Given the description of an element on the screen output the (x, y) to click on. 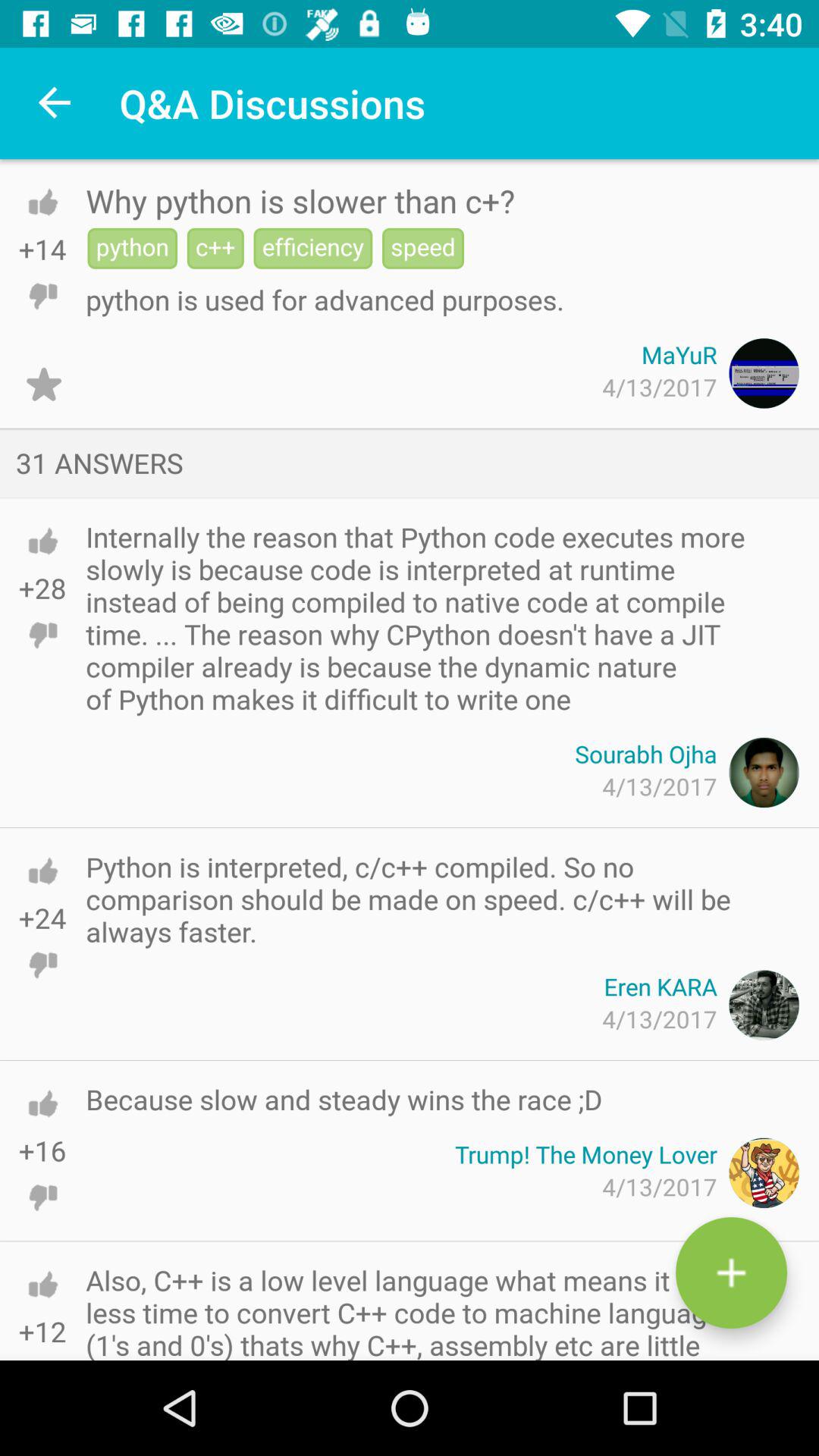
upvote (42, 870)
